Given the description of an element on the screen output the (x, y) to click on. 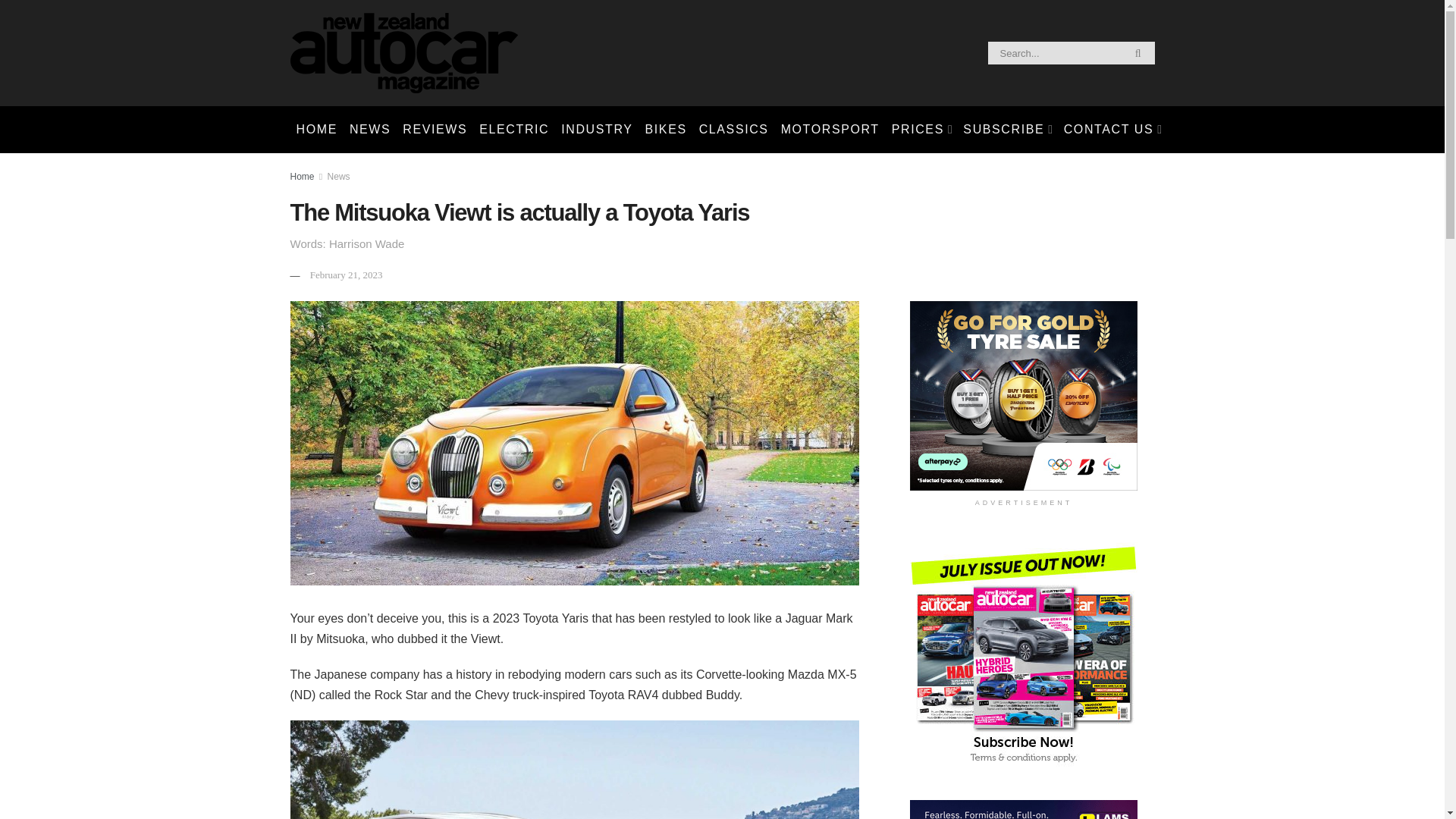
PRICES (921, 128)
INDUSTRY (596, 128)
BIKES (666, 128)
NEWS (369, 128)
MOTORSPORT (829, 128)
REVIEWS (434, 128)
CLASSICS (733, 128)
ELECTRIC (513, 128)
HOME (315, 128)
